Given the description of an element on the screen output the (x, y) to click on. 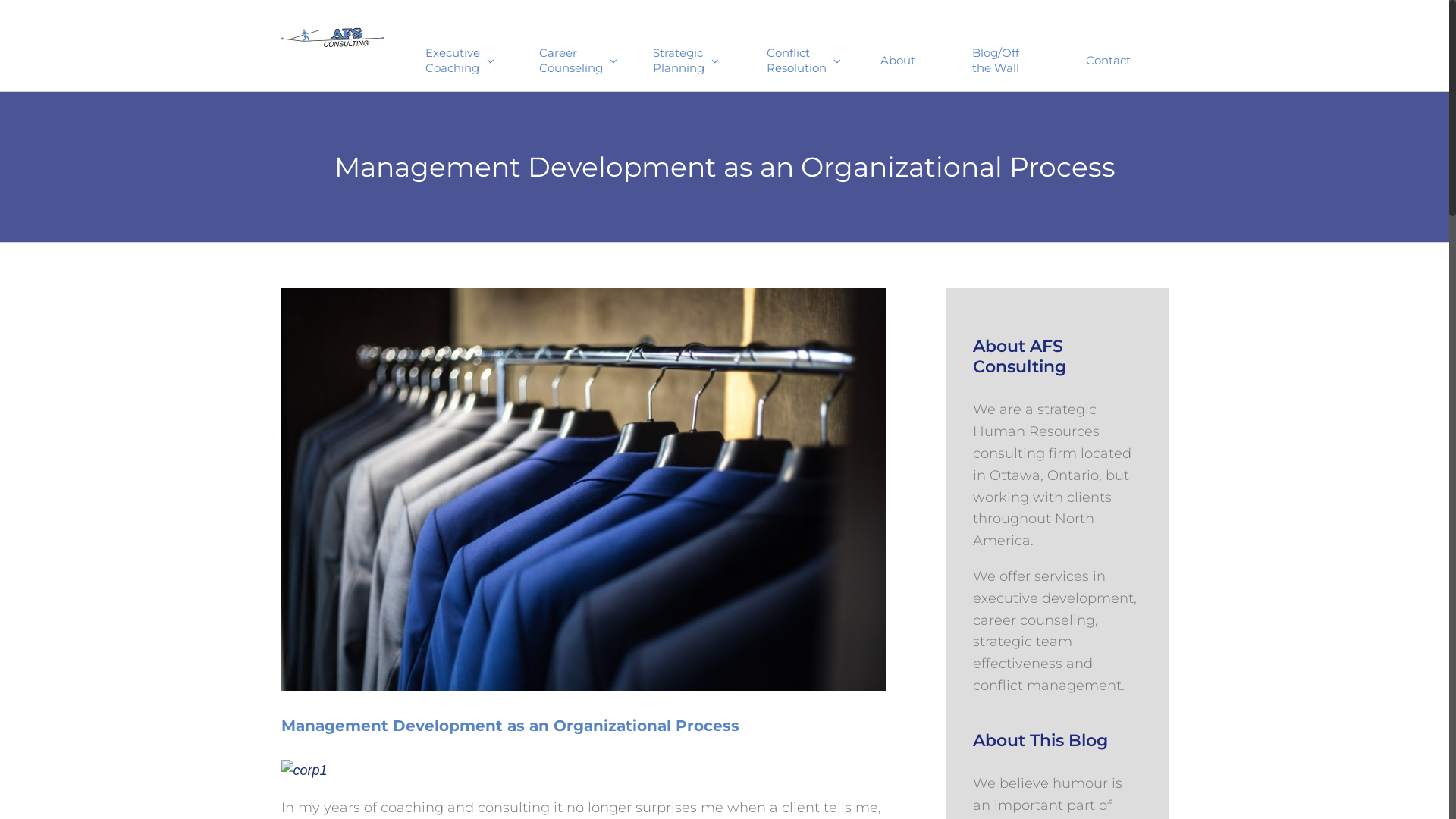
Conflict Resolution Element type: text (794, 45)
Contact Element type: text (1107, 45)
About Element type: text (897, 45)
Executive Coaching Element type: text (453, 45)
View Larger Image Element type: text (582, 489)
Career Counseling Element type: text (567, 45)
Strategic Planning Element type: text (680, 45)
Blog/Off the Wall Element type: text (999, 45)
